Given the description of an element on the screen output the (x, y) to click on. 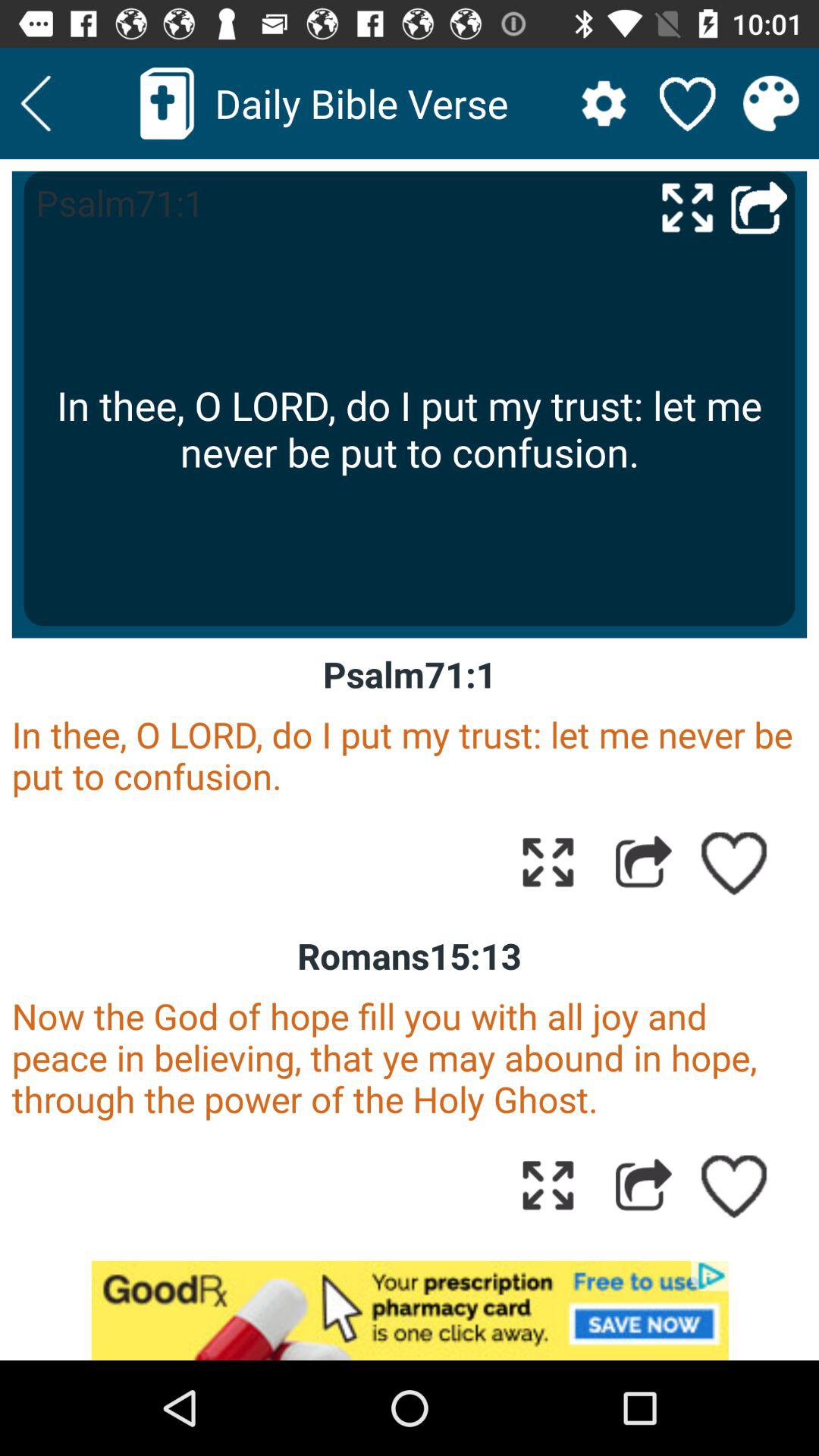
colour selection (771, 103)
